Given the description of an element on the screen output the (x, y) to click on. 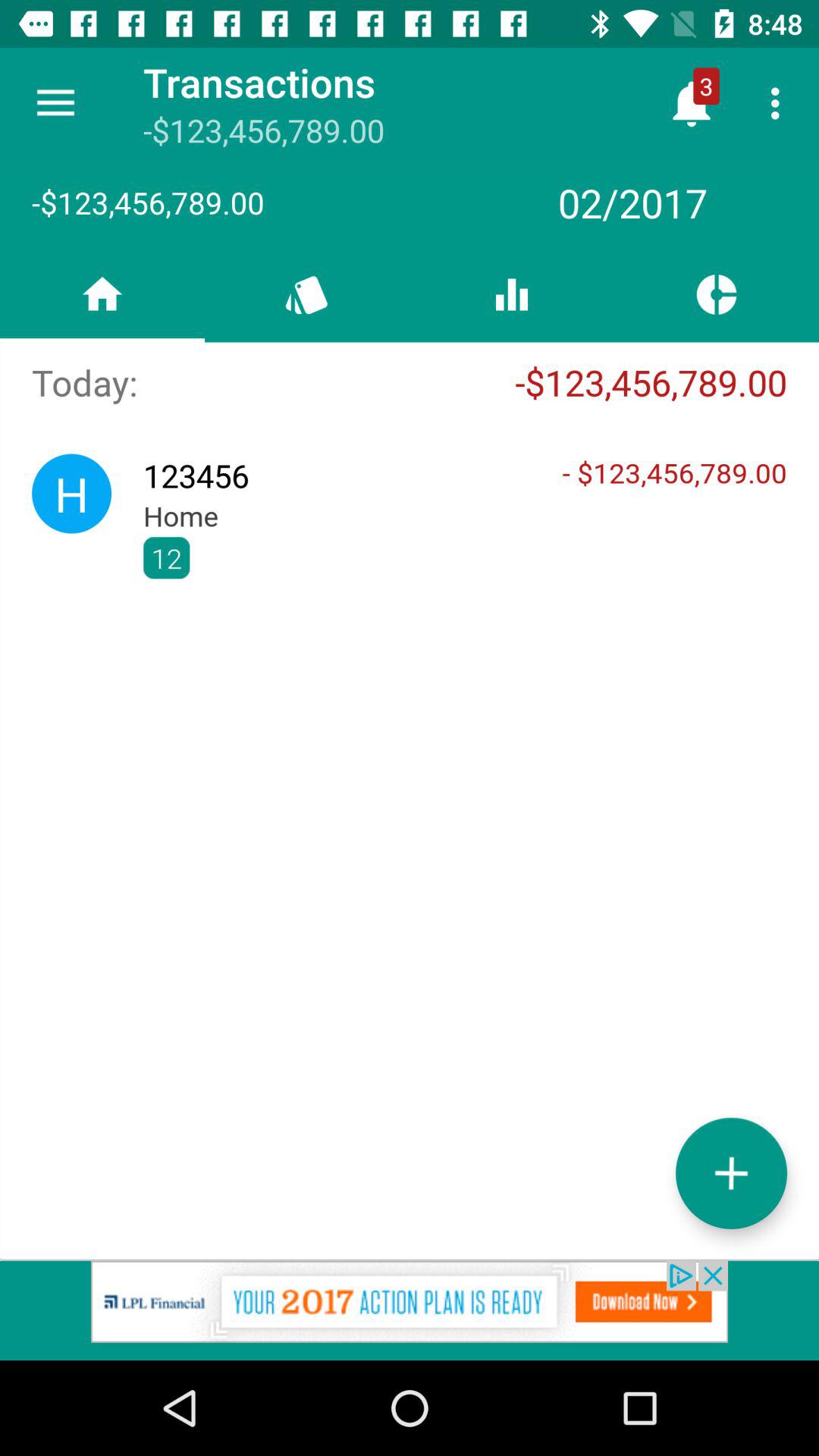
select the icon at the bottom right corner (731, 1173)
